Given the description of an element on the screen output the (x, y) to click on. 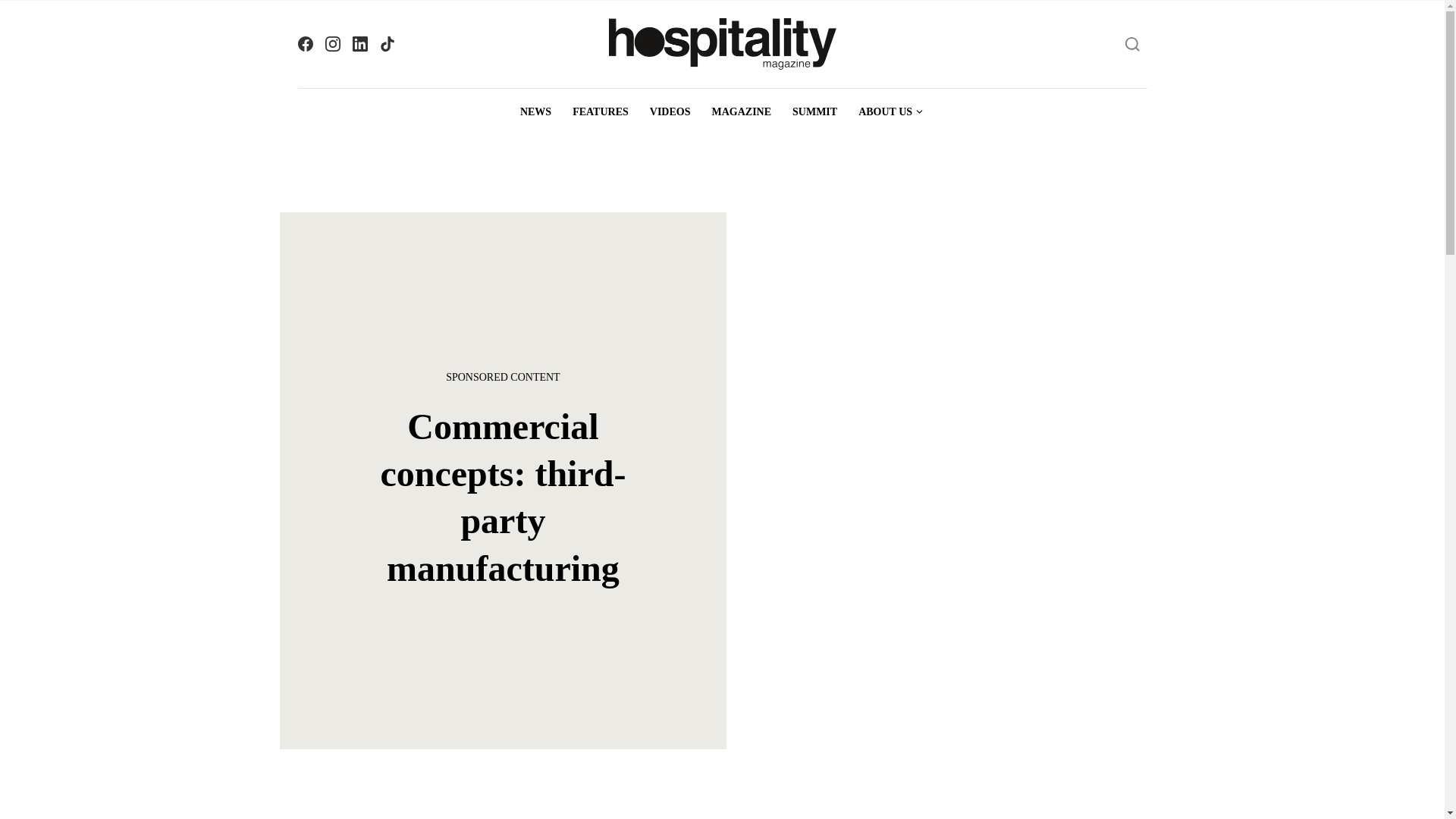
VIDEOS (670, 111)
ABOUT US (890, 111)
FEATURES (600, 111)
SPONSORED CONTENT (503, 376)
MAGAZINE (740, 111)
NEWS (535, 111)
SUMMIT (814, 111)
